Given the description of an element on the screen output the (x, y) to click on. 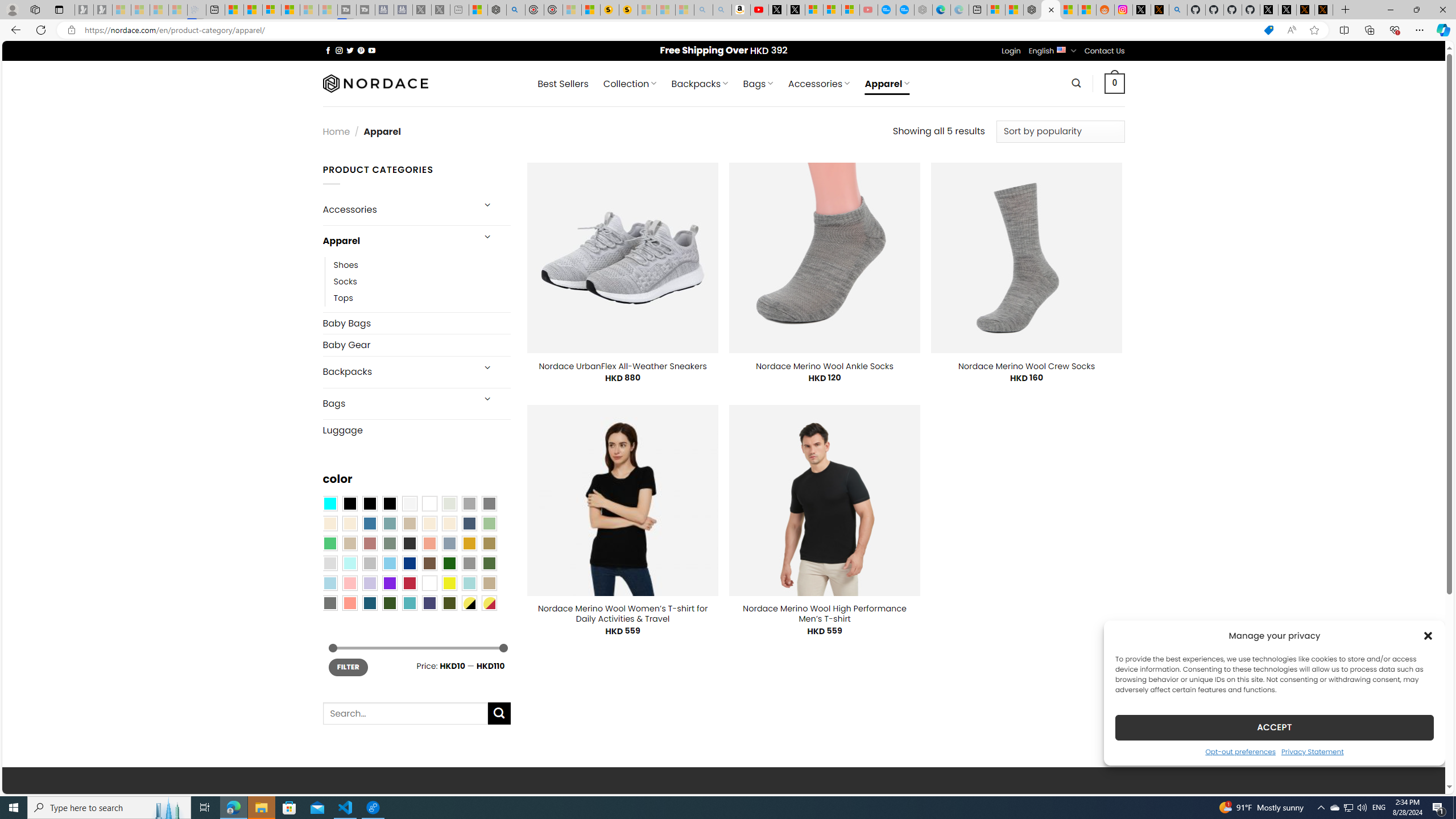
Amazon Echo Dot PNG - Search Images - Sleeping (721, 9)
Log in to X / X (1142, 9)
Silver (369, 562)
Dusty Blue (449, 542)
Hale Navy (468, 522)
Light Taupe (349, 542)
poe - Search (515, 9)
